Given the description of an element on the screen output the (x, y) to click on. 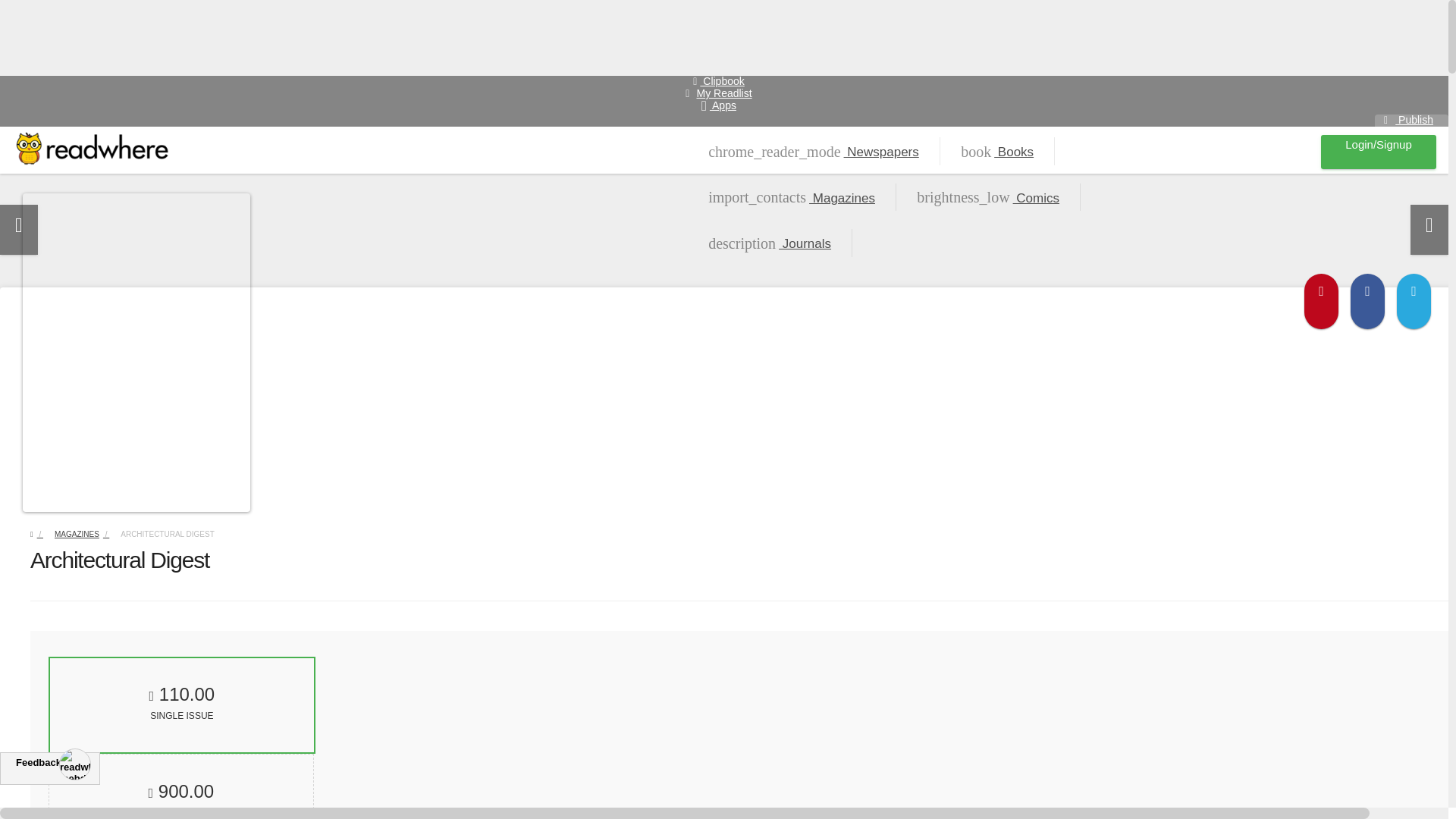
book Books (997, 151)
Architectural Digest (181, 704)
description Journals (724, 91)
MAGAZINES (769, 243)
Search (87, 533)
submit (1268, 151)
Feedback (24, 9)
